Given the description of an element on the screen output the (x, y) to click on. 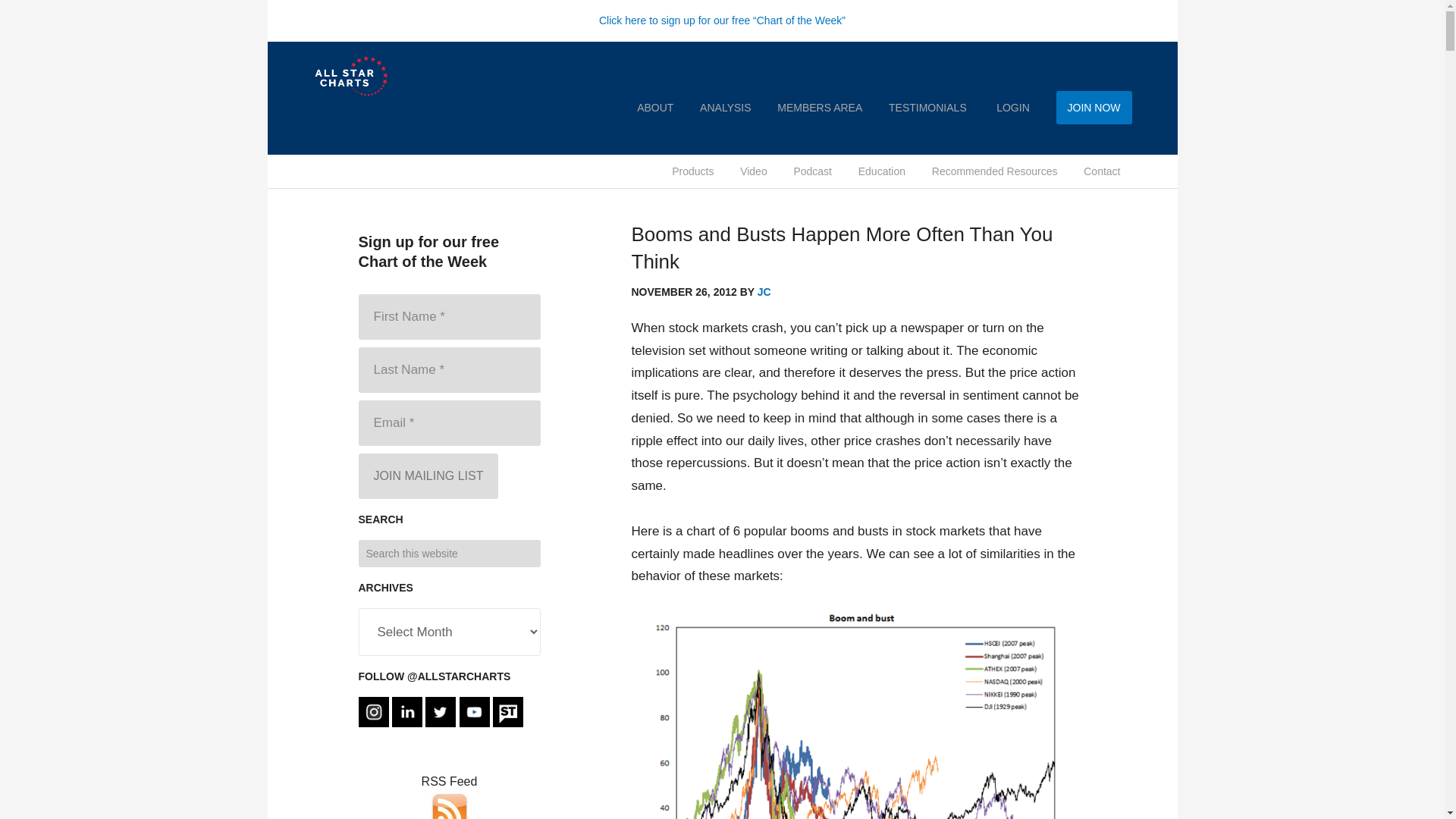
11-26-12 Boom and bust (857, 714)
ABOUT (655, 107)
ALL STAR CHARTS (388, 75)
TESTIMONIALS (927, 107)
MEMBERS AREA (819, 107)
ANALYSIS (724, 107)
